Given the description of an element on the screen output the (x, y) to click on. 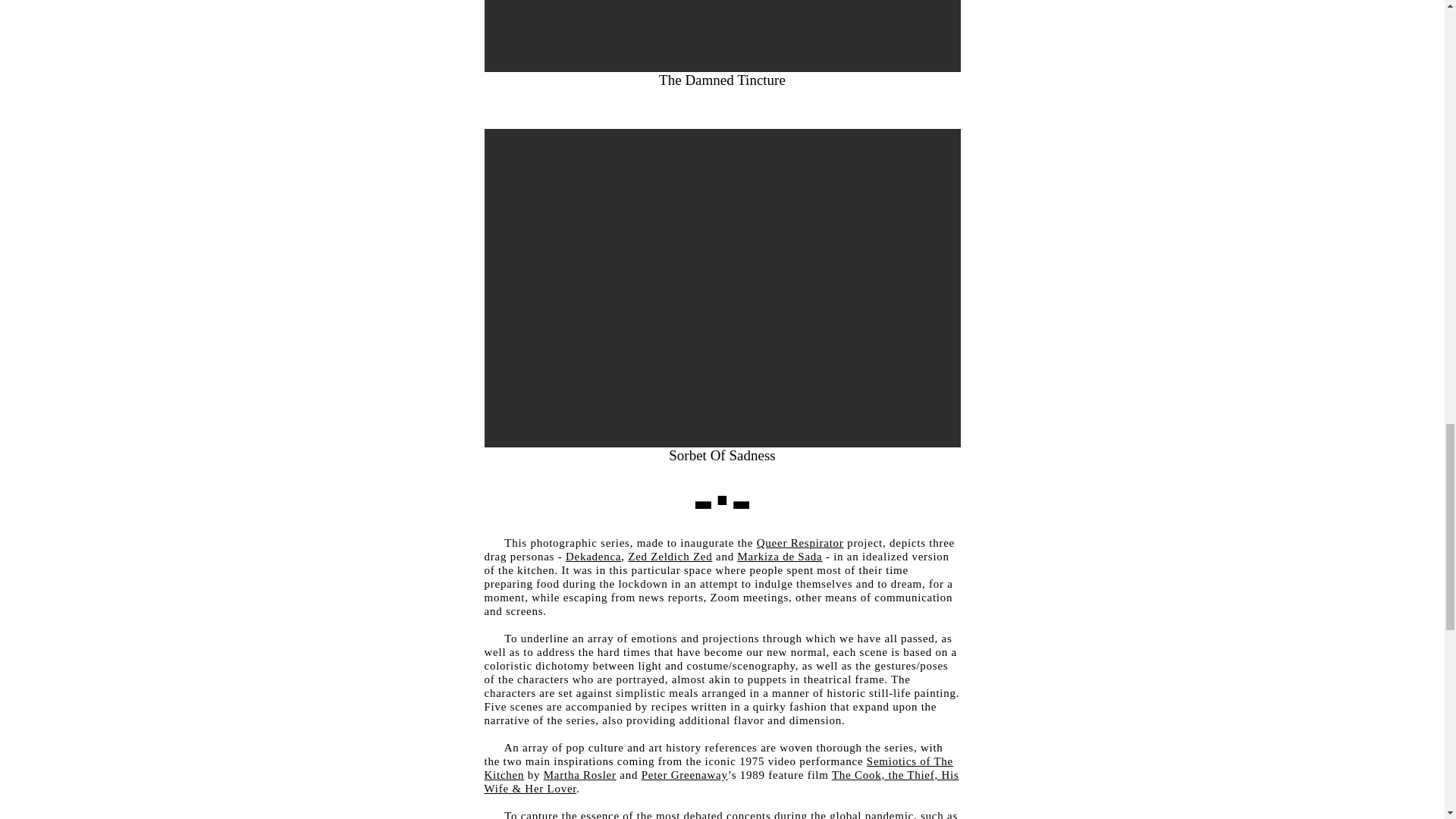
Dekadenca (593, 556)
Martha Rosler (579, 775)
Queer Respirator (800, 542)
Markiza de Sada (779, 556)
Peter Greenaway (685, 775)
Semiotics of The Kitchen (718, 768)
Zed Zeldich Zed (669, 556)
